Given the description of an element on the screen output the (x, y) to click on. 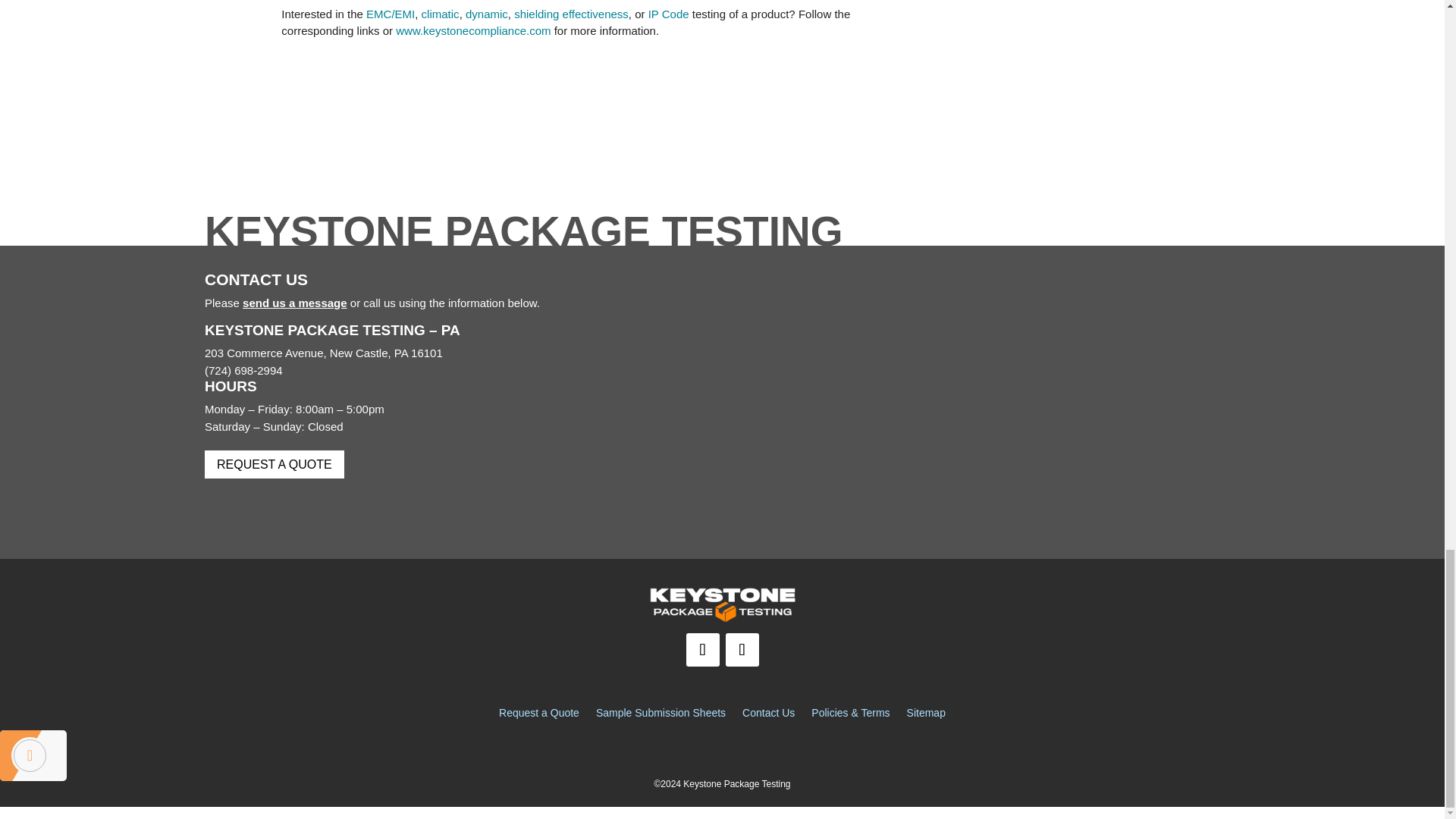
KPT-Logo-Light (721, 603)
Google map (995, 384)
Follow on LinkedIn (702, 649)
Follow on Youtube (741, 649)
